Given the description of an element on the screen output the (x, y) to click on. 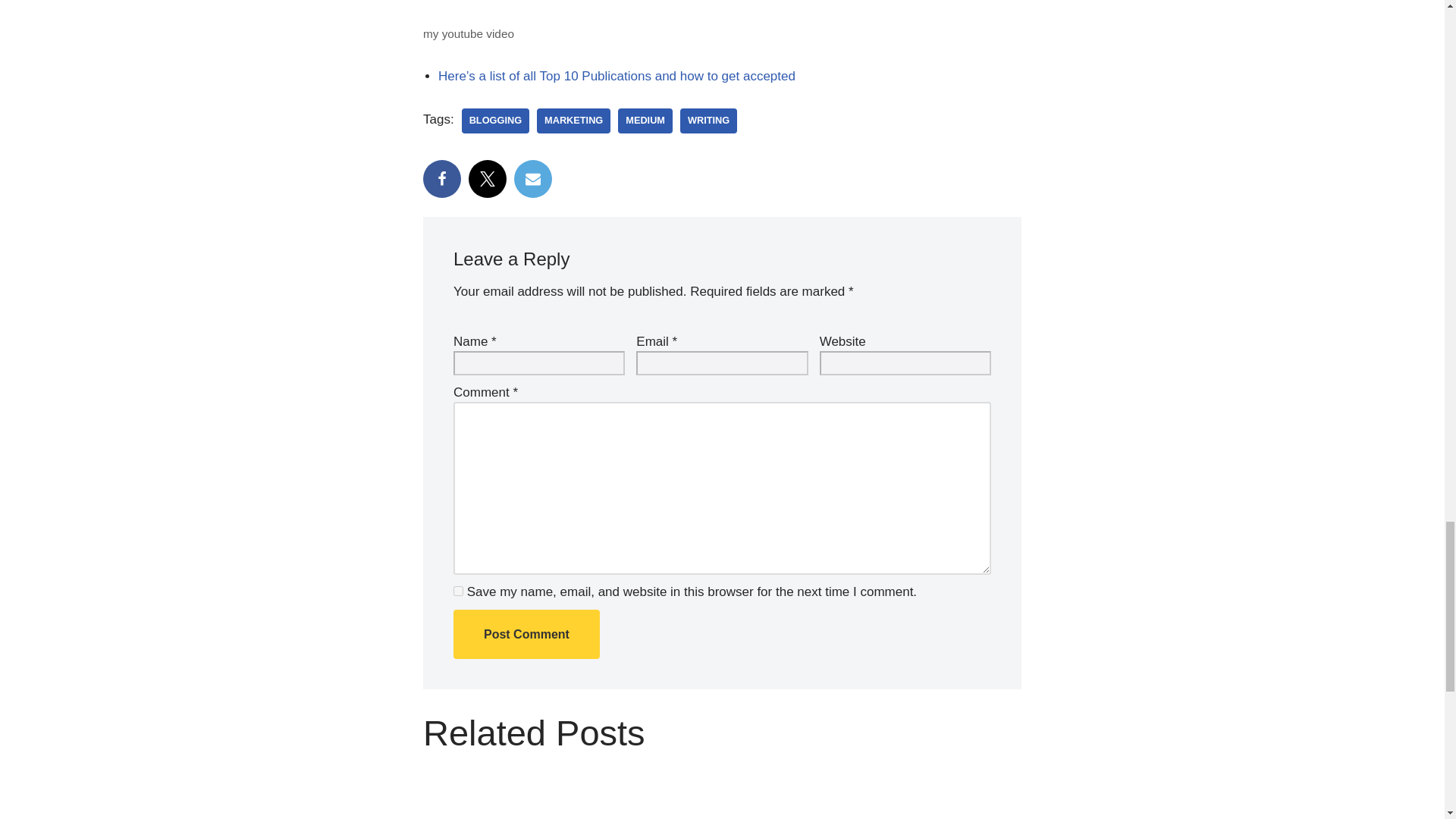
Facebook (442, 178)
MARKETING (573, 120)
Medium (644, 120)
X (487, 178)
Writing (707, 120)
blogging (495, 120)
Marketing (573, 120)
Email (532, 178)
yes (457, 591)
BLOGGING (495, 120)
MEDIUM (644, 120)
Post Comment (525, 634)
WRITING (707, 120)
Post Comment (525, 634)
